Given the description of an element on the screen output the (x, y) to click on. 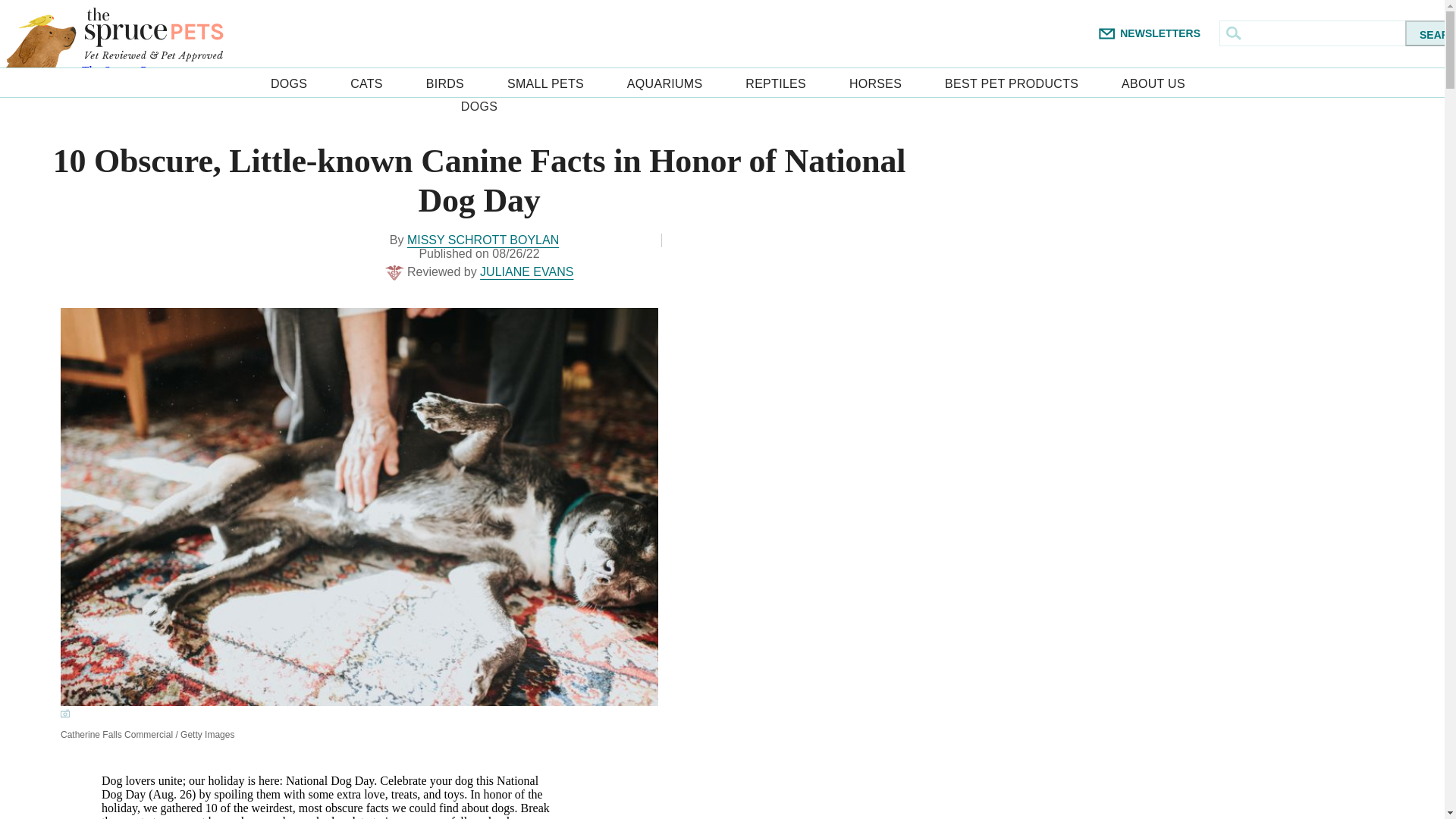
SMALL PETS (544, 82)
The Spruce Pets (153, 33)
DOGS (288, 82)
CATS (366, 82)
Open search form (1233, 32)
AQUARIUMS (665, 82)
NEWSLETTERS (1159, 32)
BIRDS (445, 82)
